Given the description of an element on the screen output the (x, y) to click on. 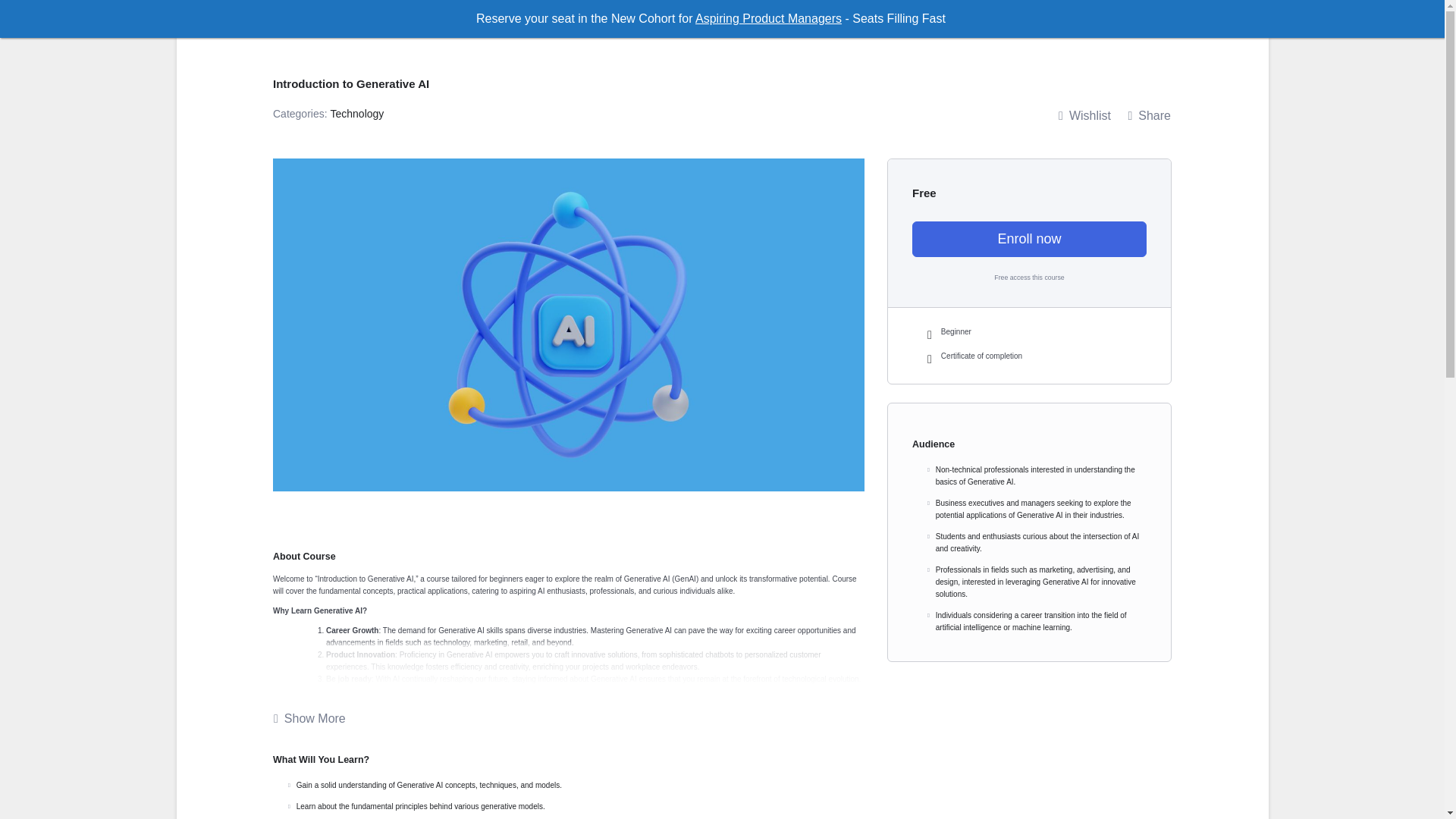
Live Classes (823, 26)
Projects (899, 26)
Live Classes (823, 26)
School (683, 26)
ProductHood (336, 24)
Show More (309, 719)
Growth Sprints (995, 26)
Courses (747, 26)
Projects (899, 26)
Courses (747, 26)
Technology (357, 113)
School (683, 26)
